Given the description of an element on the screen output the (x, y) to click on. 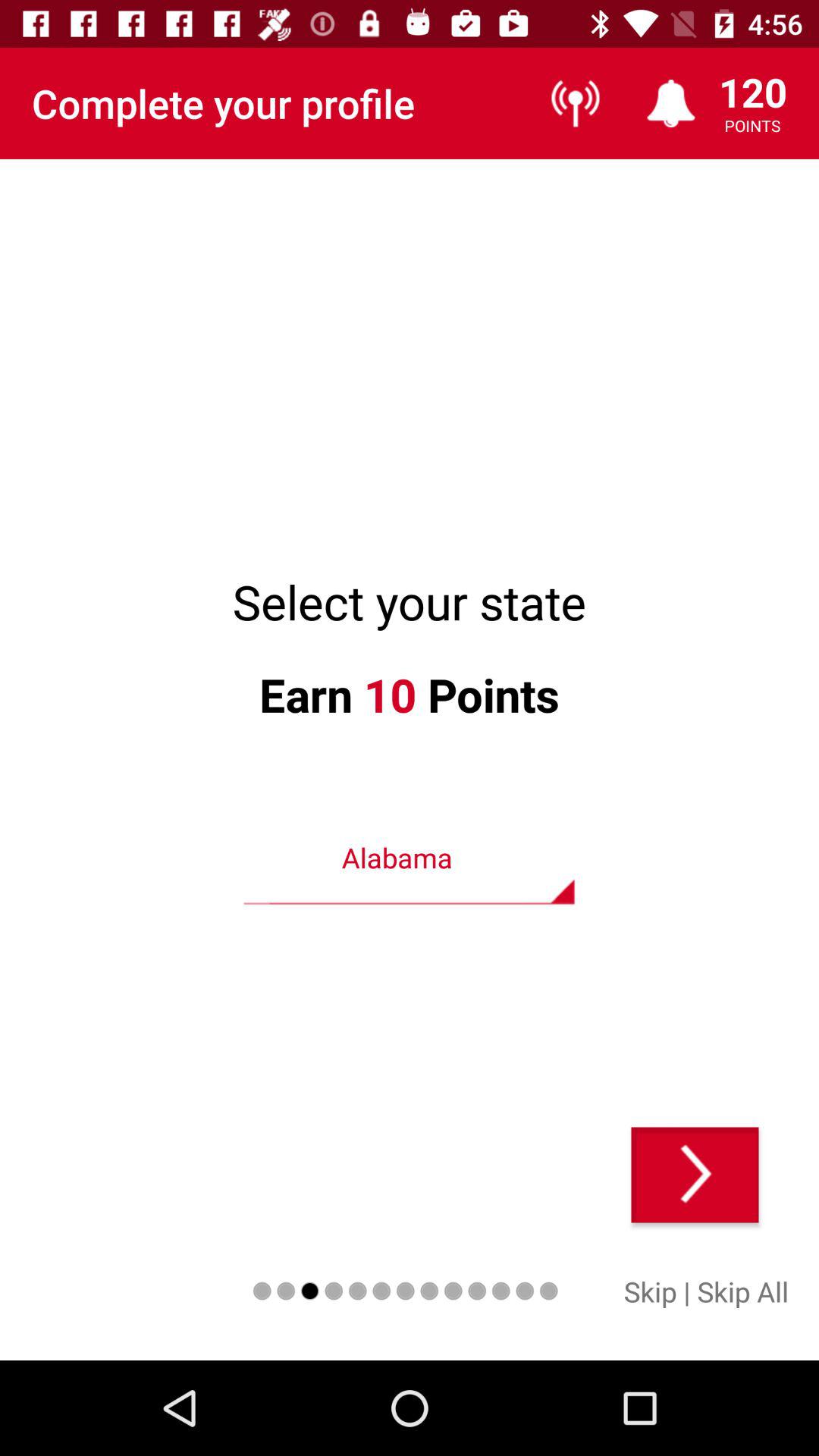
flip to skip all icon (742, 1291)
